Given the description of an element on the screen output the (x, y) to click on. 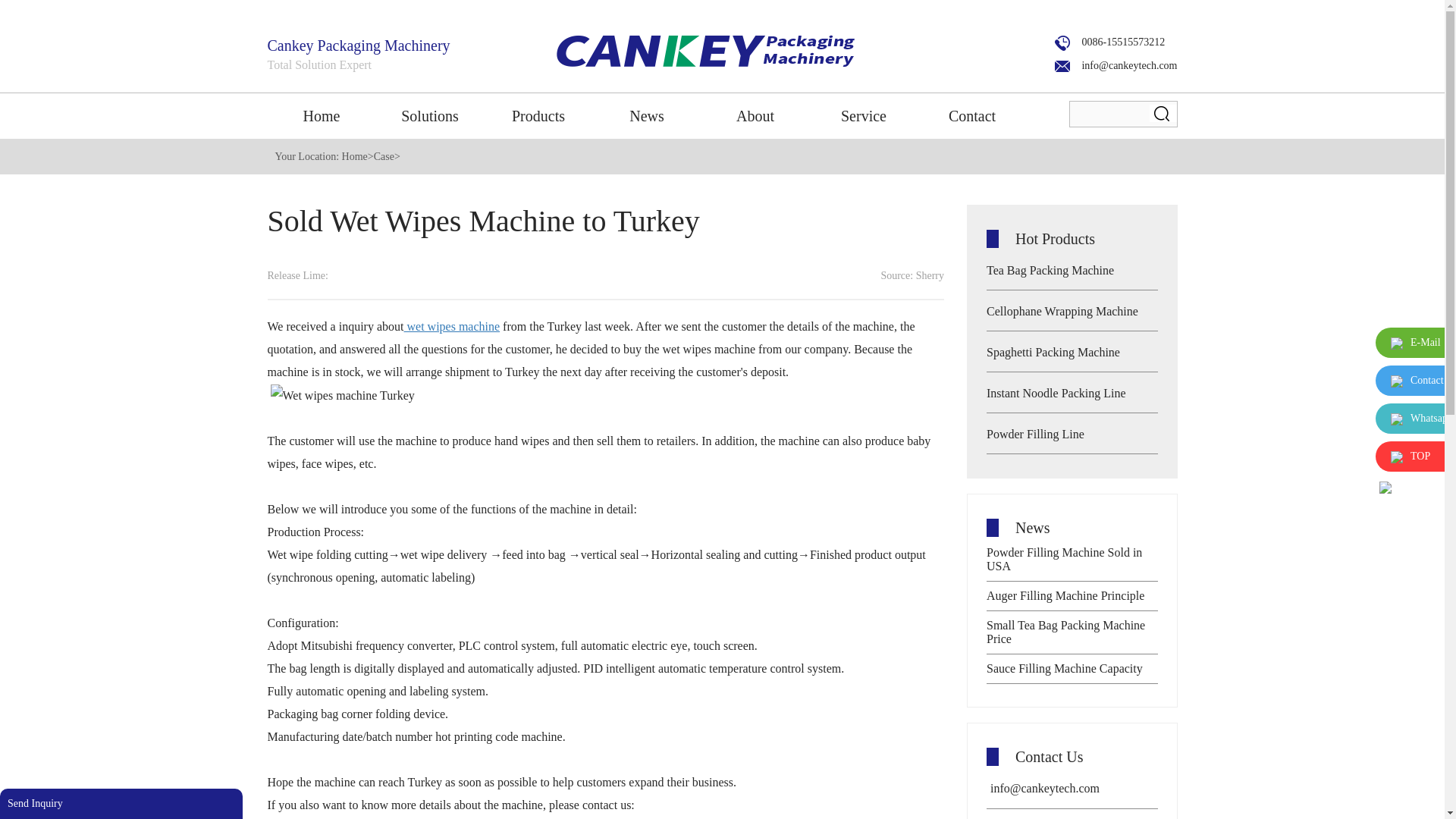
About (754, 115)
Home (320, 115)
Service (863, 115)
Products (537, 115)
Home (320, 115)
About (754, 115)
Contact (971, 115)
Products (537, 115)
News (646, 115)
Solutions (429, 115)
0086-15515573212 (1109, 41)
News (646, 115)
